Given the description of an element on the screen output the (x, y) to click on. 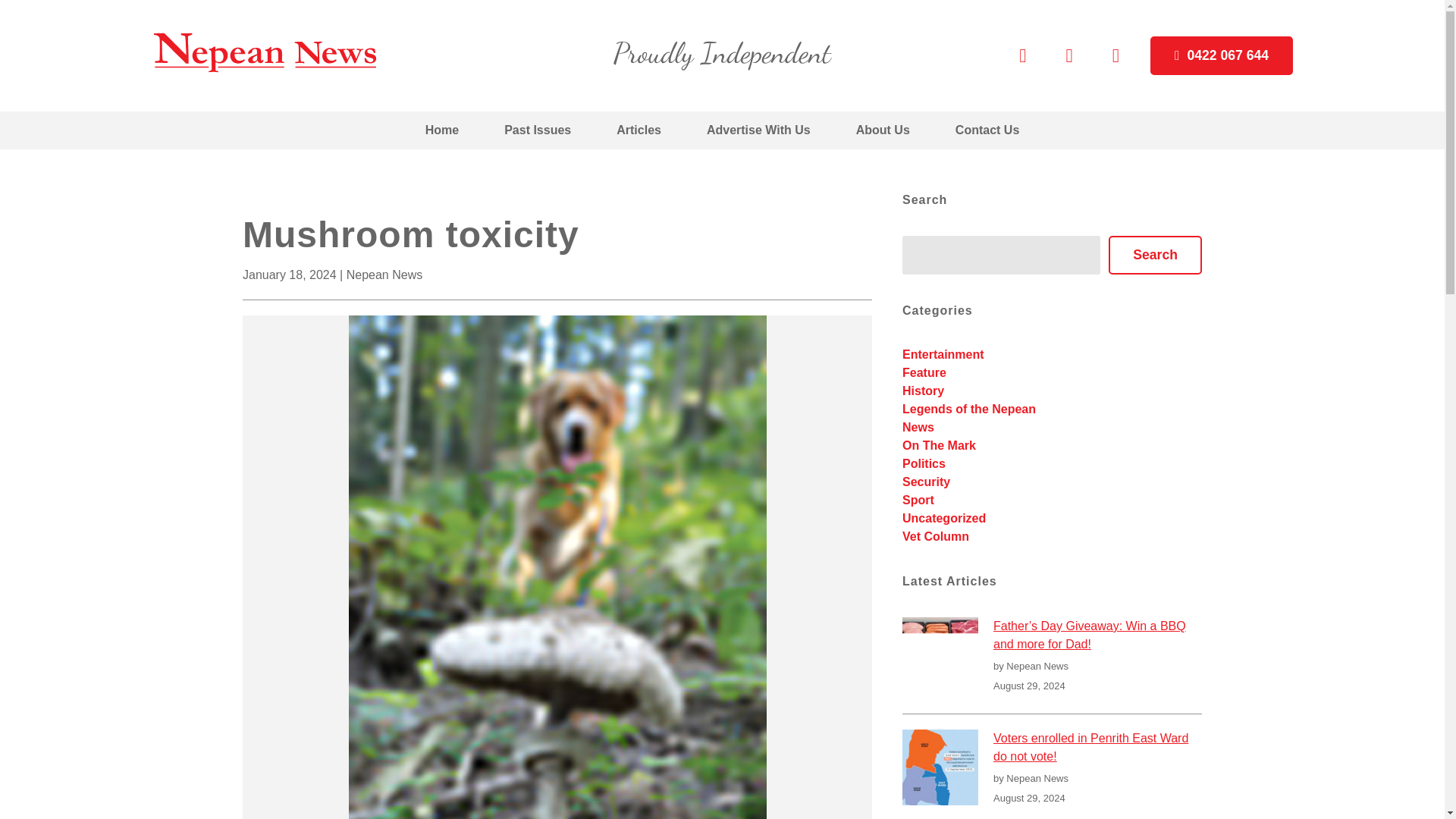
Feature (924, 372)
Entertainment (943, 354)
0422 067 644 (1221, 56)
News (918, 427)
Past Issues (537, 130)
Home (442, 130)
Legends of the Nepean (968, 408)
About Us (882, 130)
Contact Us (986, 130)
Search (1155, 255)
